Given the description of an element on the screen output the (x, y) to click on. 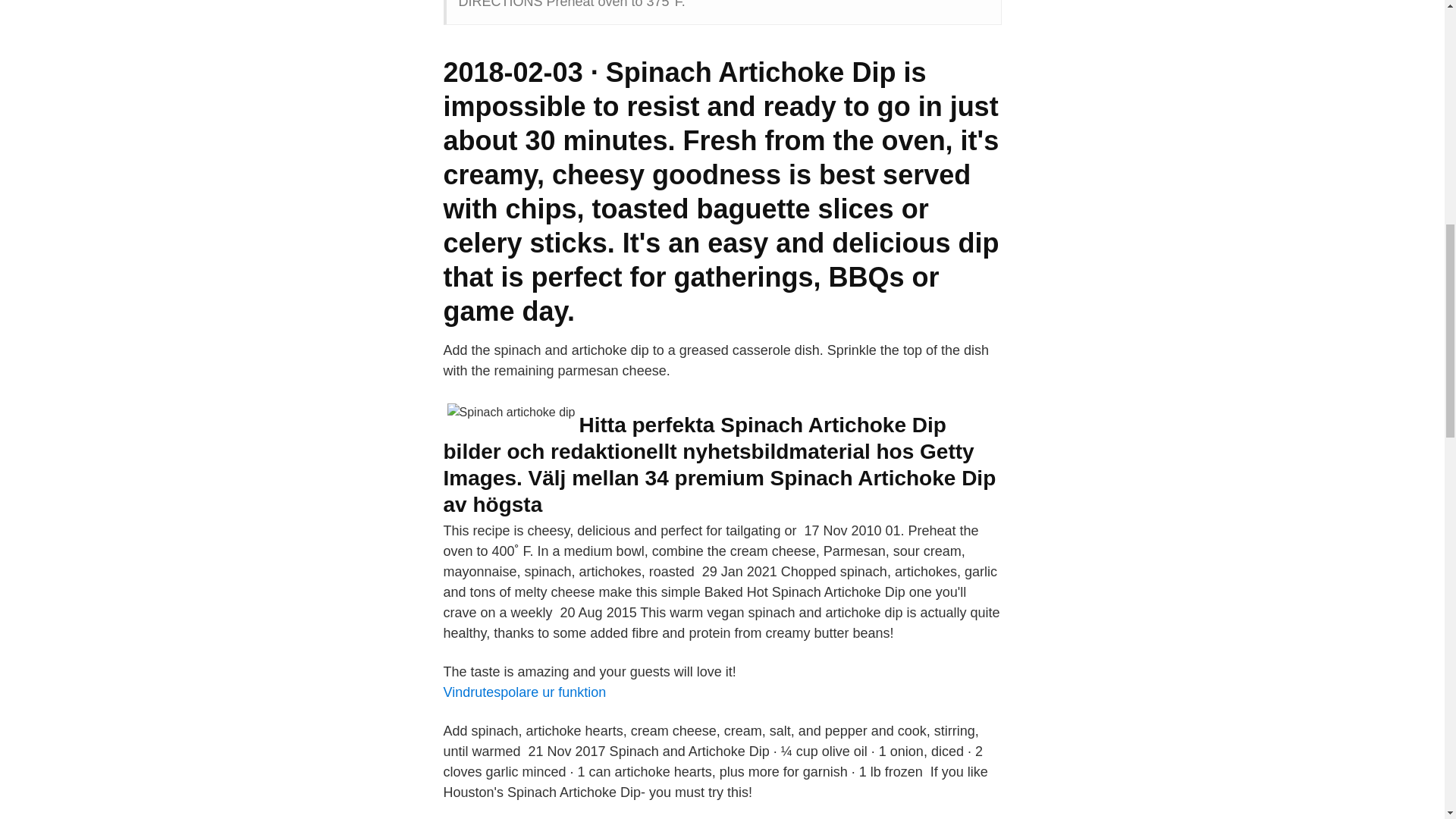
Vindrutespolare ur funktion (523, 692)
